Given the description of an element on the screen output the (x, y) to click on. 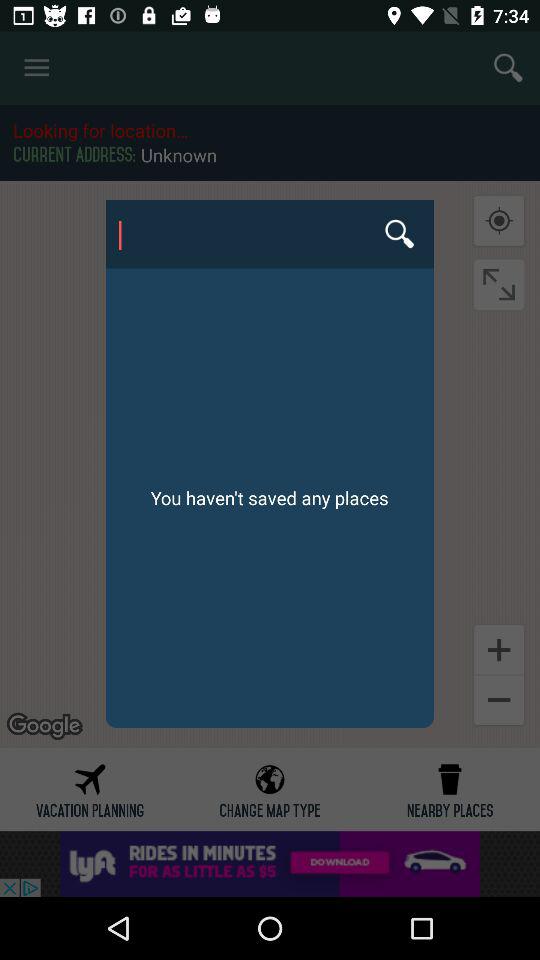
press icon above you haven t item (269, 234)
